Given the description of an element on the screen output the (x, y) to click on. 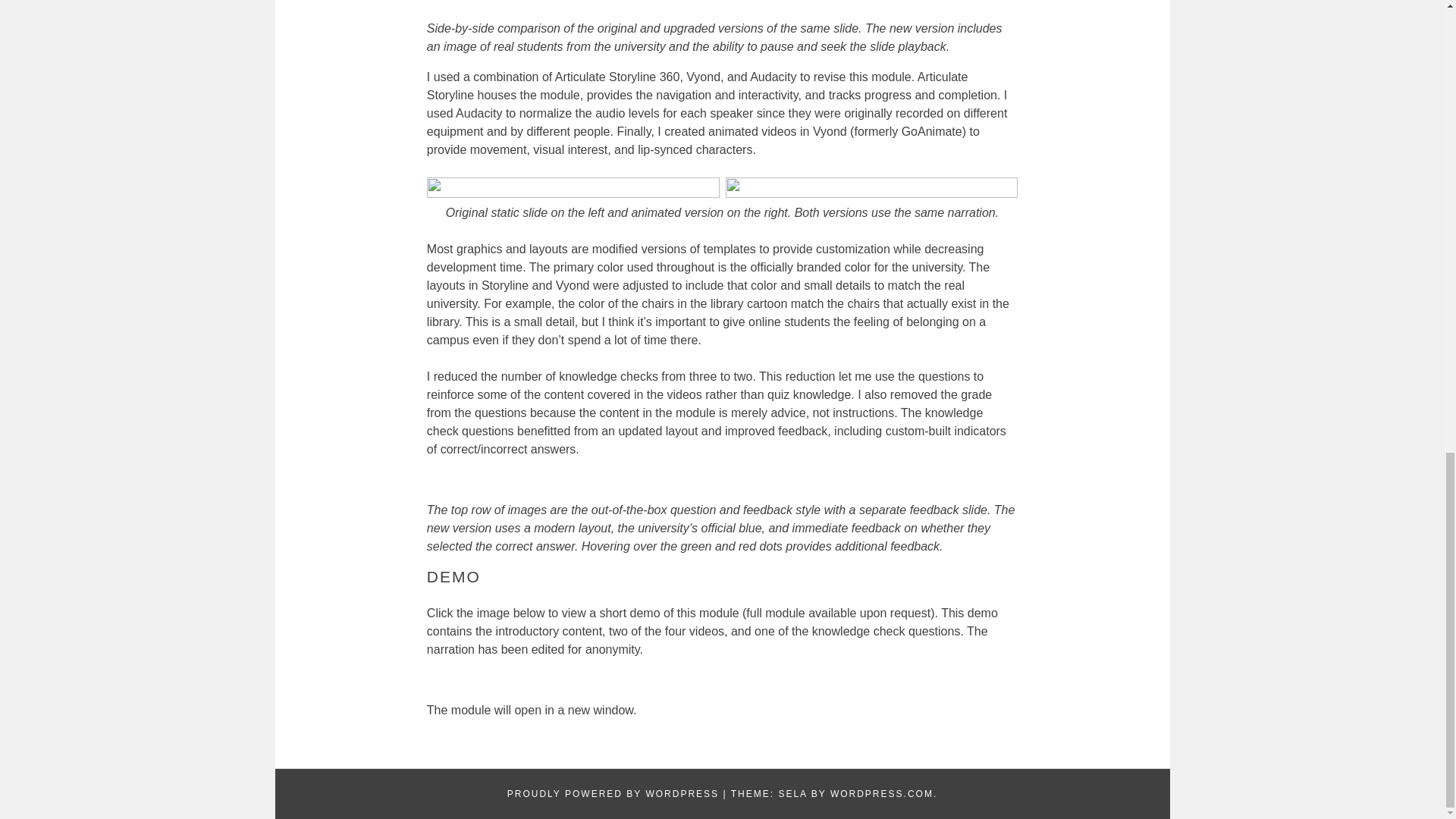
PROUDLY POWERED BY WORDPRESS (612, 793)
WORDPRESS.COM (881, 793)
A Semantic Personal Publishing Platform (612, 793)
